Given the description of an element on the screen output the (x, y) to click on. 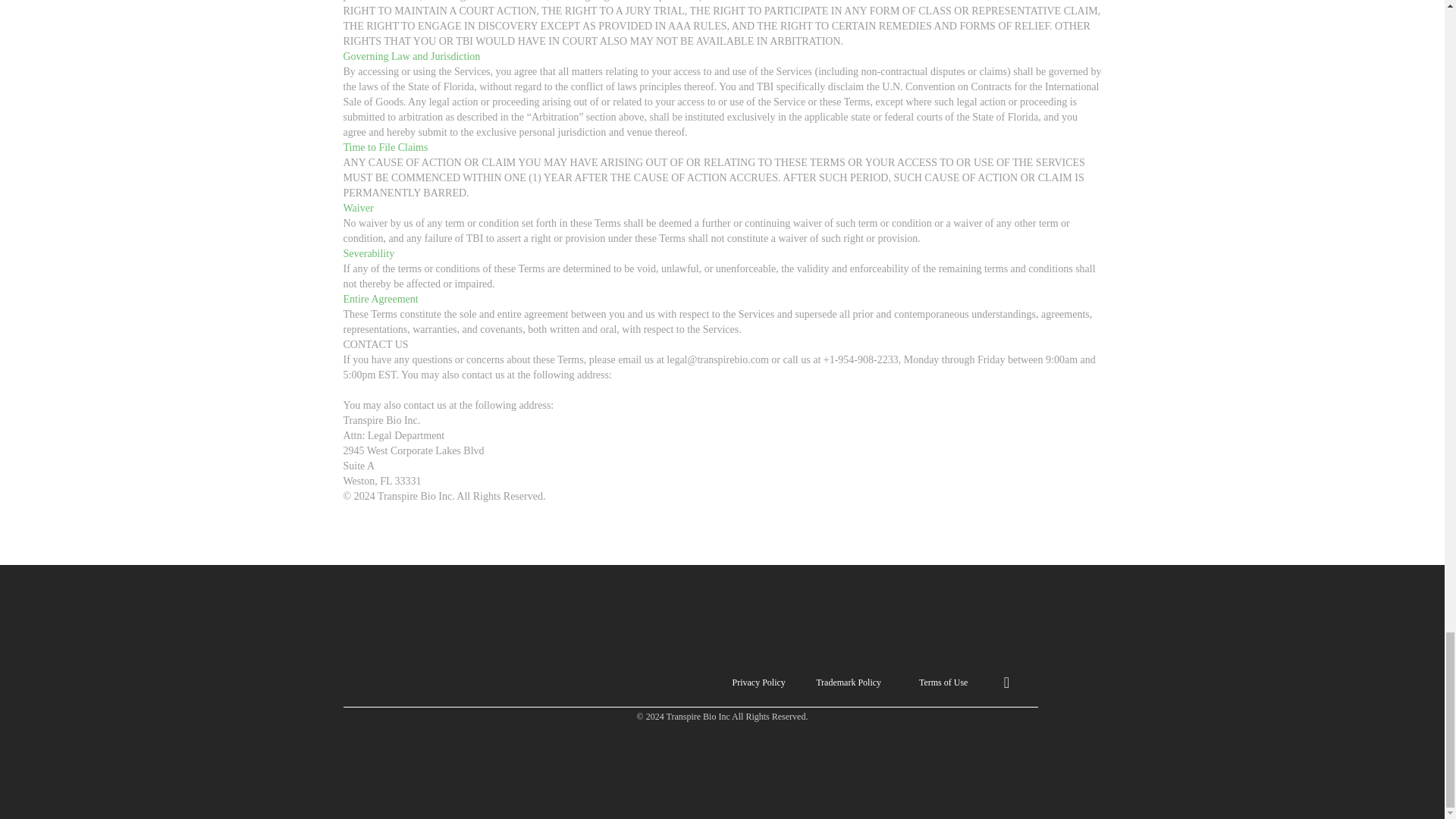
Terms of Use (942, 682)
Privacy Policy (563, 682)
Trademark Policy (849, 682)
